Given the description of an element on the screen output the (x, y) to click on. 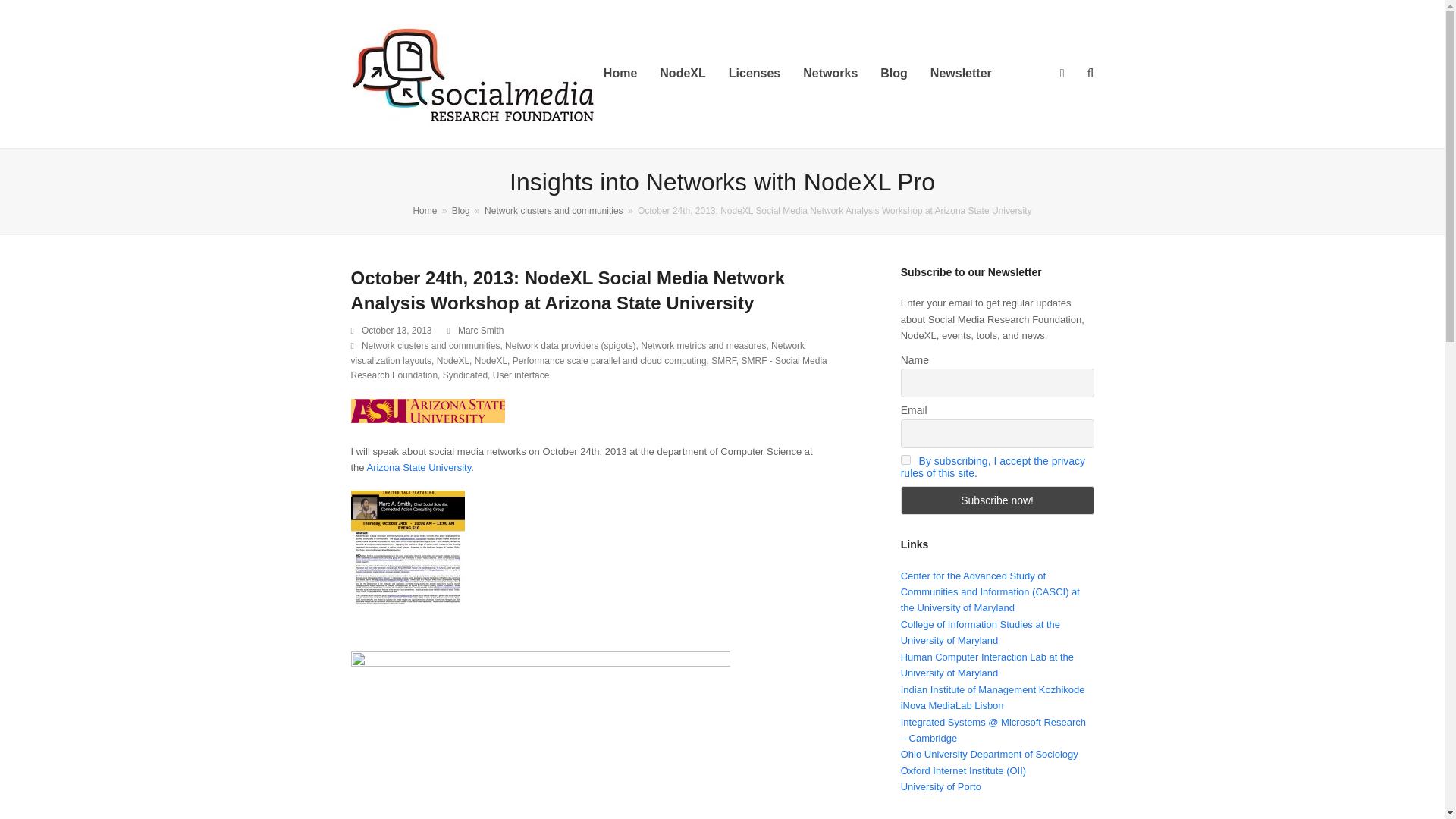
on (906, 460)
Sociology at Ohio University (989, 754)
Subscribe now! (997, 500)
Posts by Marc Smith (480, 330)
NodeXL (681, 73)
Home (619, 73)
